Given the description of an element on the screen output the (x, y) to click on. 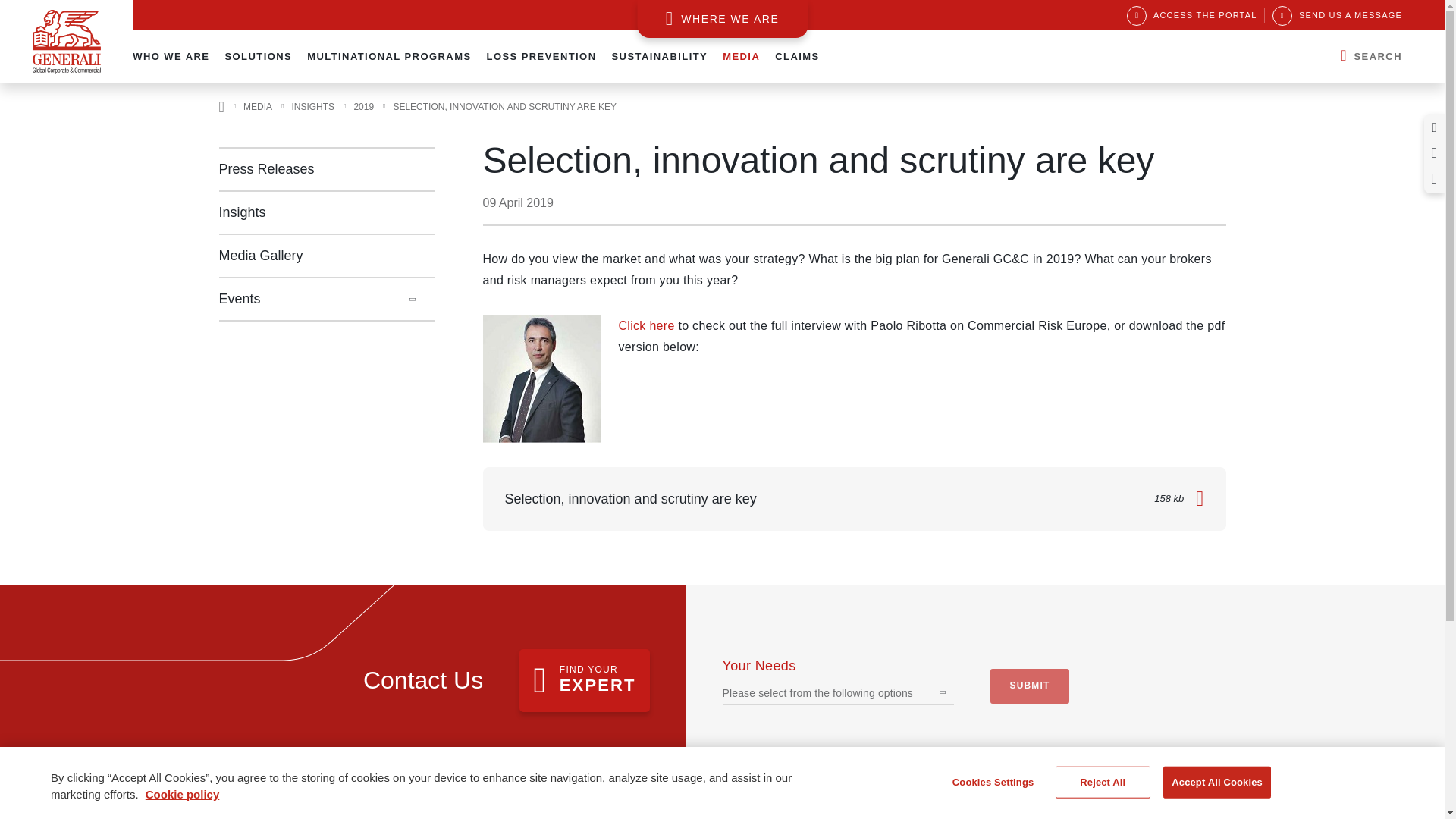
ACCESS THE PORTAL (1191, 15)
Please select from the following options (817, 692)
WHERE WE ARE (722, 18)
Access the Portal (1191, 15)
WHO WE ARE (170, 56)
Selection, innovation and scrutiny are key (540, 379)
SEND US A MESSAGE (1337, 15)
Send us a message (1337, 15)
